Given the description of an element on the screen output the (x, y) to click on. 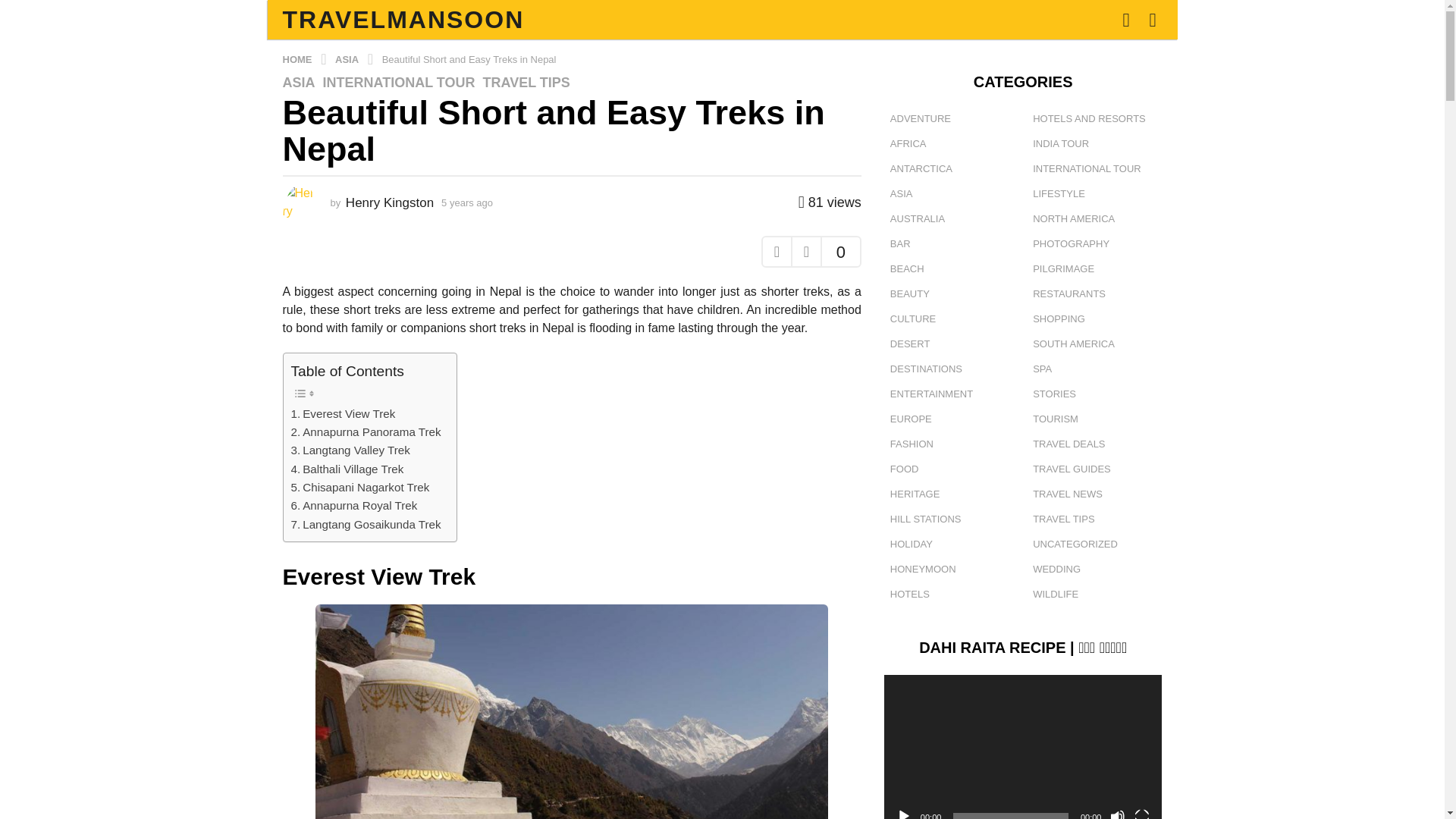
Annapurna Panorama Trek (366, 432)
Balthali Village Trek (347, 469)
Chisapani Nagarkot Trek (360, 487)
Langtang Gosaikunda Trek (366, 524)
Annapurna Royal Trek (354, 505)
Everest View Trek (343, 413)
Langtang Valley Trek (350, 450)
